Given the description of an element on the screen output the (x, y) to click on. 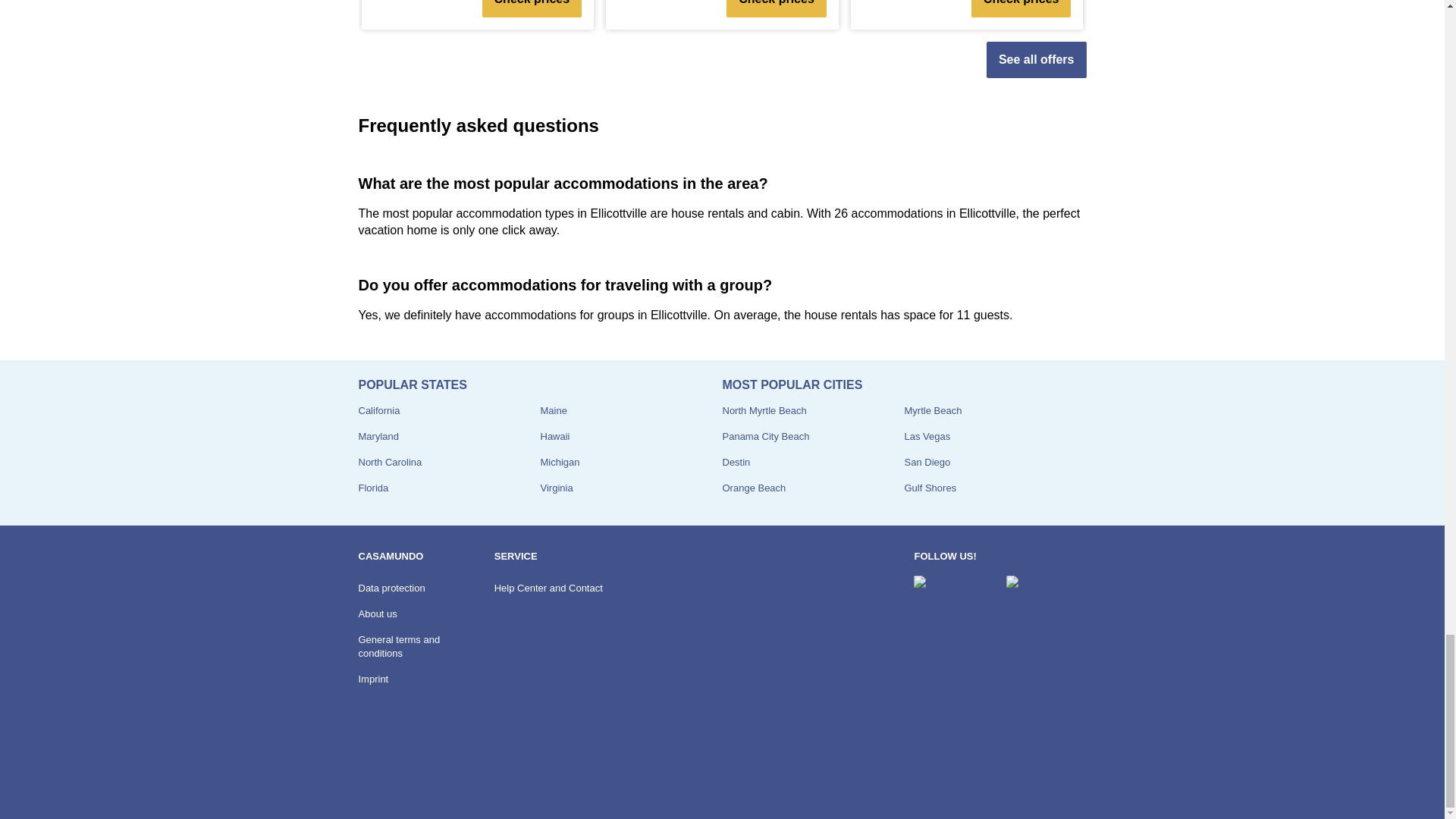
Hawaii (554, 436)
Casamundo on Instagram (1046, 589)
California (378, 410)
Maine (553, 410)
North Carolina (390, 461)
Book holiday homes and apartments - Casamundo (399, 776)
Maryland (377, 436)
Casamundo on Facebook (953, 589)
